Given the description of an element on the screen output the (x, y) to click on. 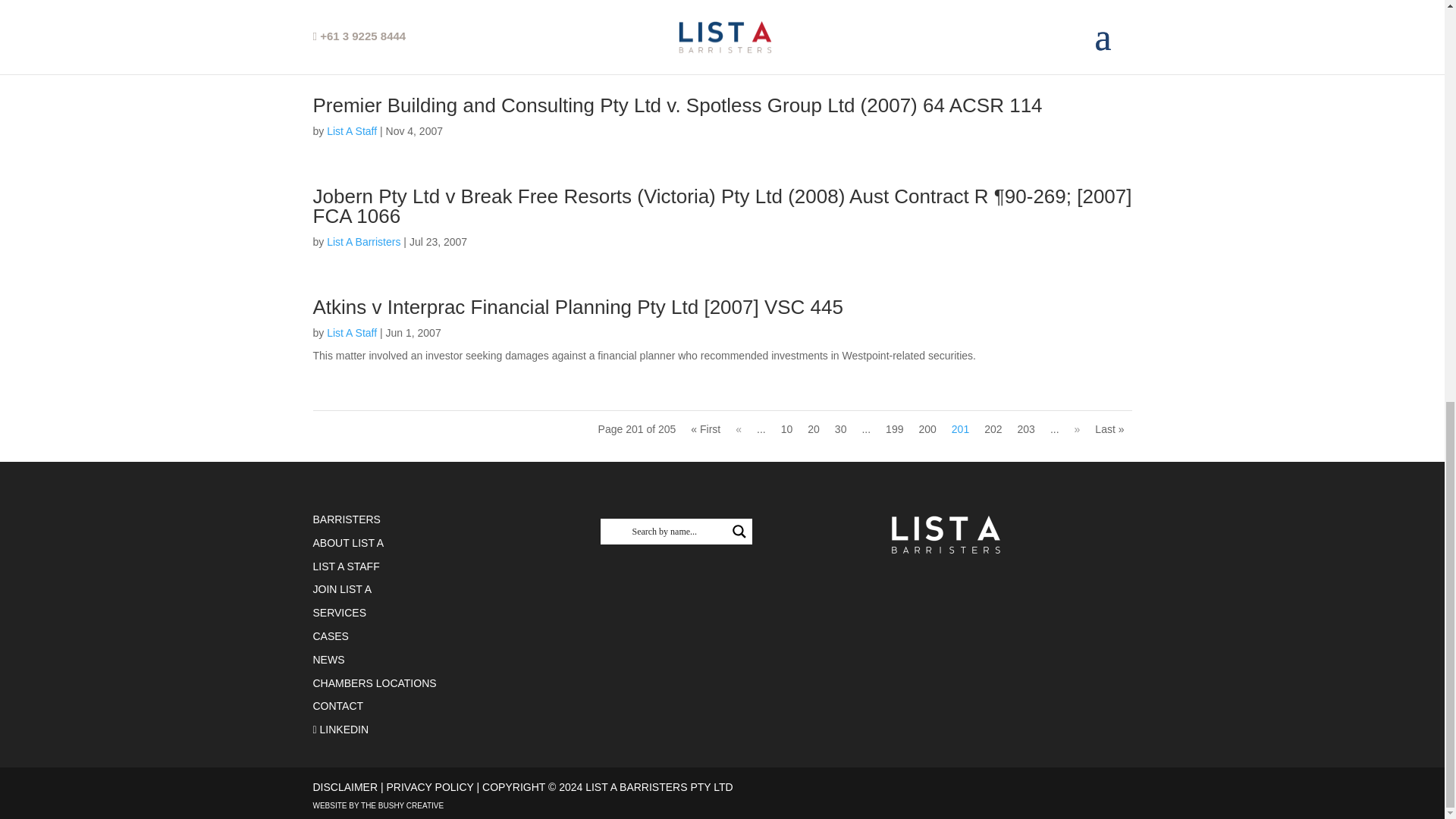
Page 30 (840, 428)
10 (786, 428)
Page 200 (926, 428)
Page 20 (813, 428)
20 (813, 428)
Posts by List A Staff (351, 39)
Posts by List A Barristers (363, 241)
List A Barristers (363, 241)
Page 199 (894, 428)
Page 10 (786, 428)
Posts by List A Staff (351, 332)
List A Staff (351, 39)
List A Staff (351, 131)
List A Staff (351, 332)
30 (840, 428)
